Given the description of an element on the screen output the (x, y) to click on. 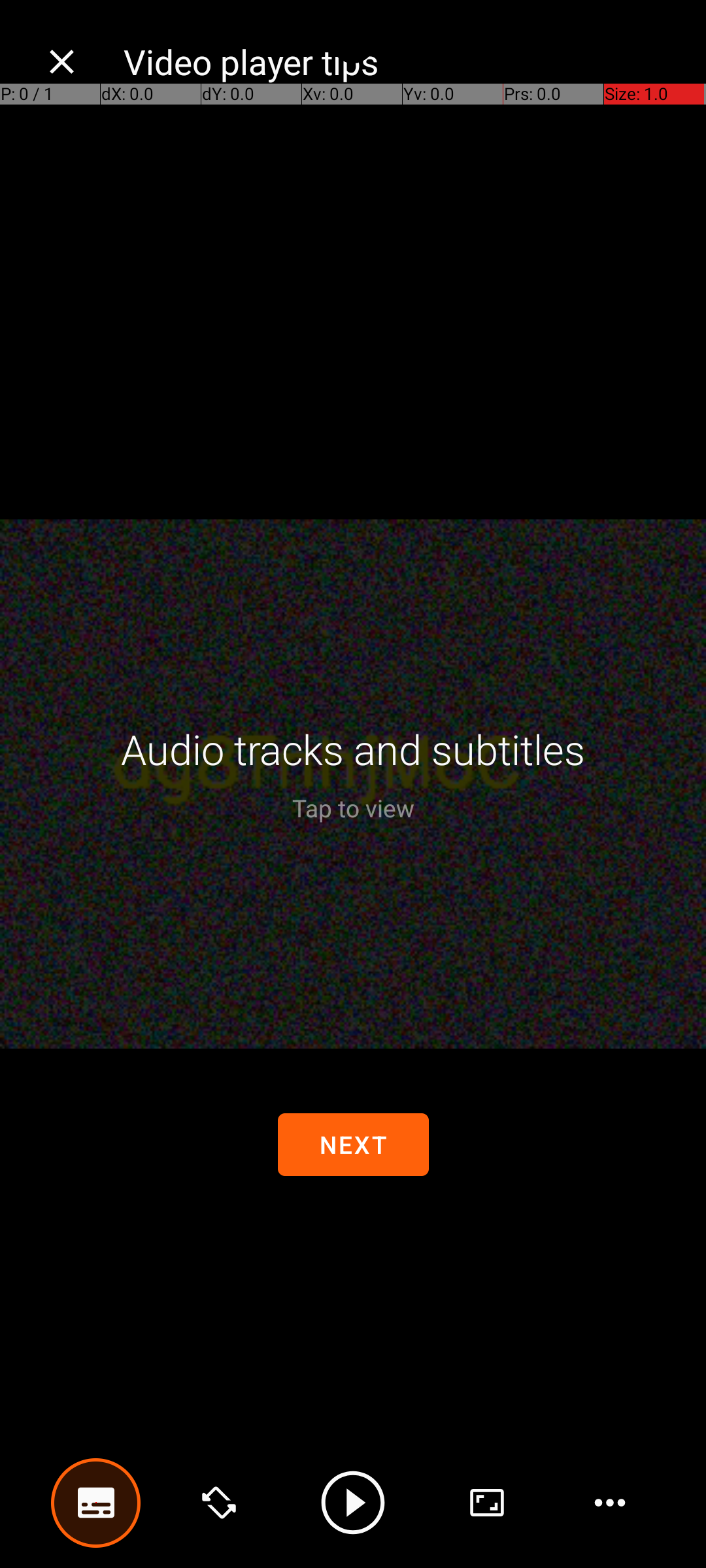
Video player. Tap to show controls. Tap the back button to hide them Element type: android.widget.FrameLayout (353, 784)
Video player tips Element type: android.widget.TextView (400, 61)
Audio tracks and subtitles Element type: android.widget.TextView (352, 748)
Tap to view Element type: android.widget.TextView (353, 807)
Play Element type: android.widget.ImageView (352, 1502)
advanced options Element type: android.widget.ImageView (486, 1502)
